Given the description of an element on the screen output the (x, y) to click on. 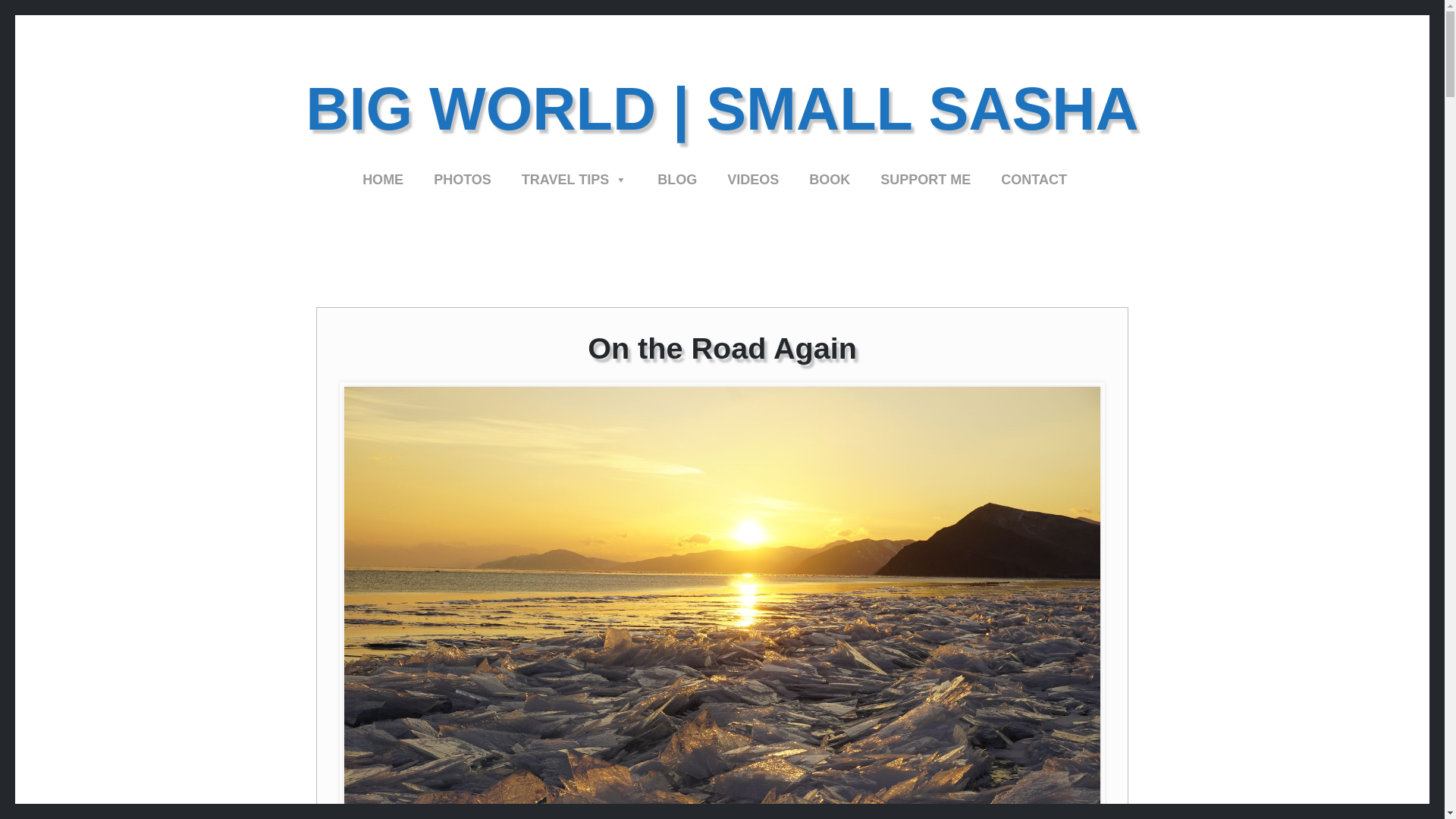
HOME (382, 179)
PHOTOS (462, 179)
BOOK (829, 179)
TRAVEL TIPS (573, 179)
VIDEOS (752, 179)
CONTACT (1033, 179)
BLOG (676, 179)
SUPPORT ME (925, 179)
